Given the description of an element on the screen output the (x, y) to click on. 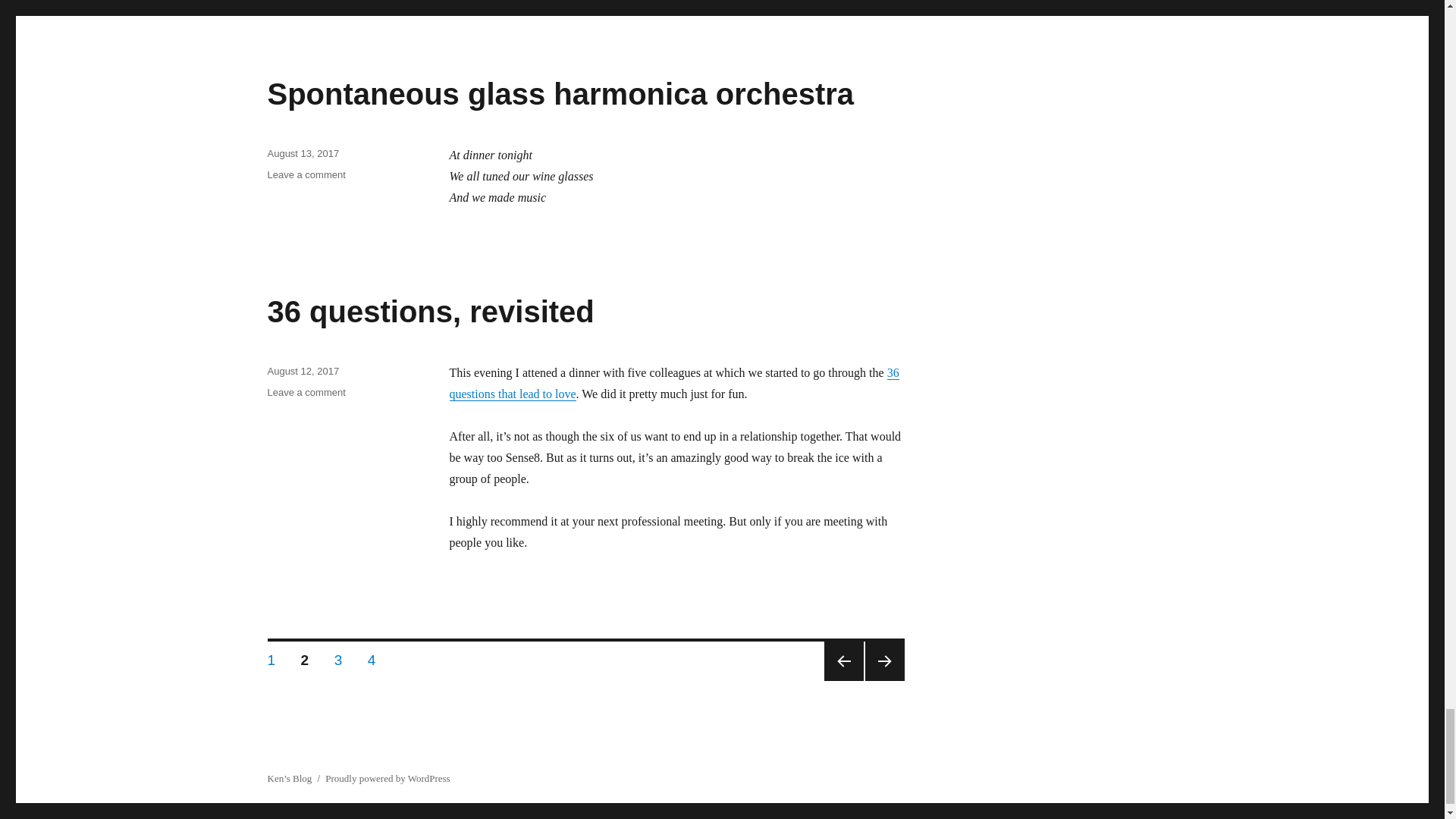
August 13, 2017 (302, 153)
Spontaneous glass harmonica orchestra (559, 93)
36 questions, revisited (430, 311)
